Given the description of an element on the screen output the (x, y) to click on. 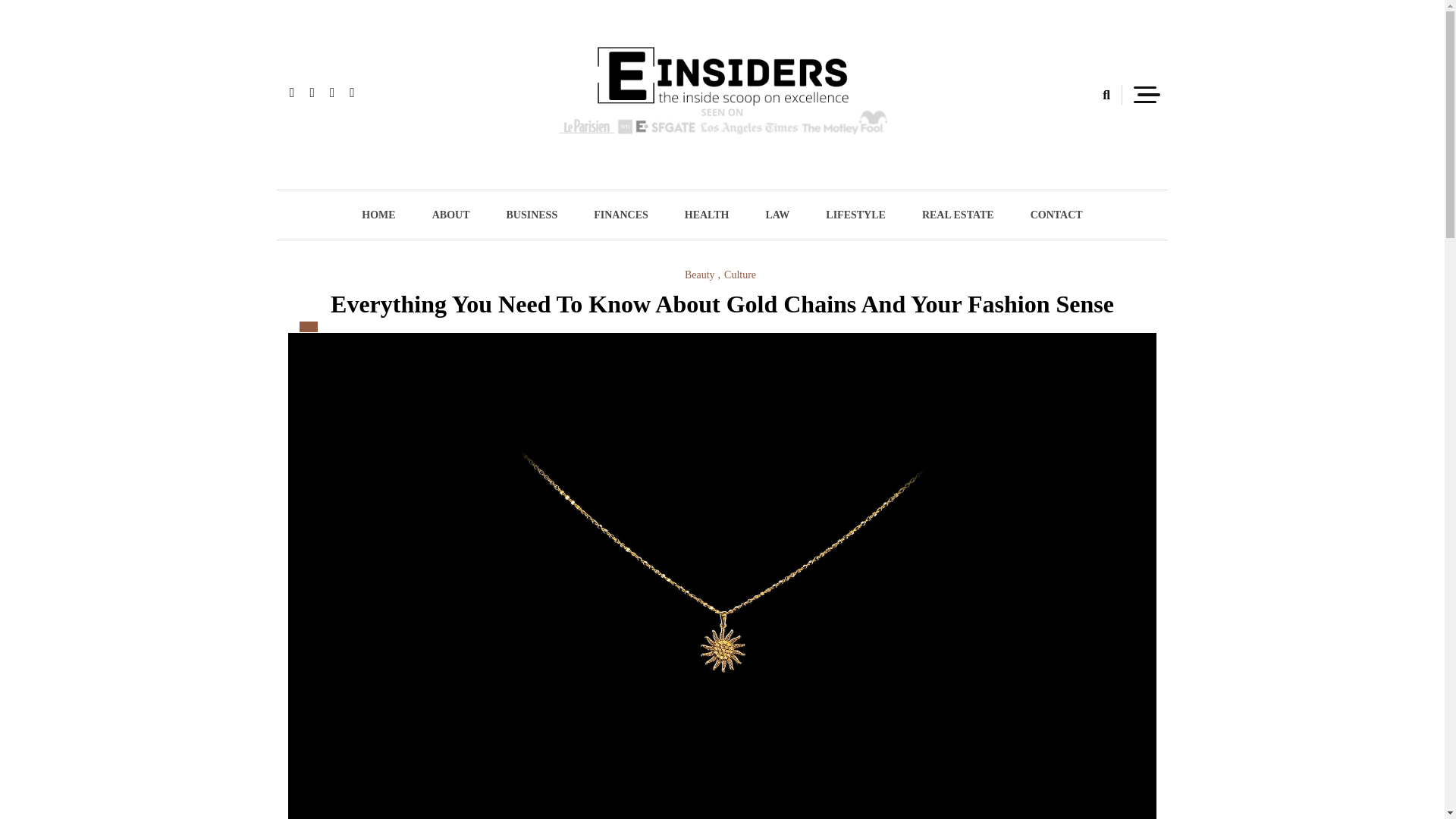
ABOUT (450, 214)
HEALTH (707, 214)
FINANCES (620, 214)
REAL ESTATE (957, 214)
einsiders (474, 177)
LIFESTYLE (856, 214)
HOME (378, 214)
LAW (777, 214)
BUSINESS (531, 214)
Culture (739, 274)
CONTACT (1055, 214)
Beauty (702, 274)
